Given the description of an element on the screen output the (x, y) to click on. 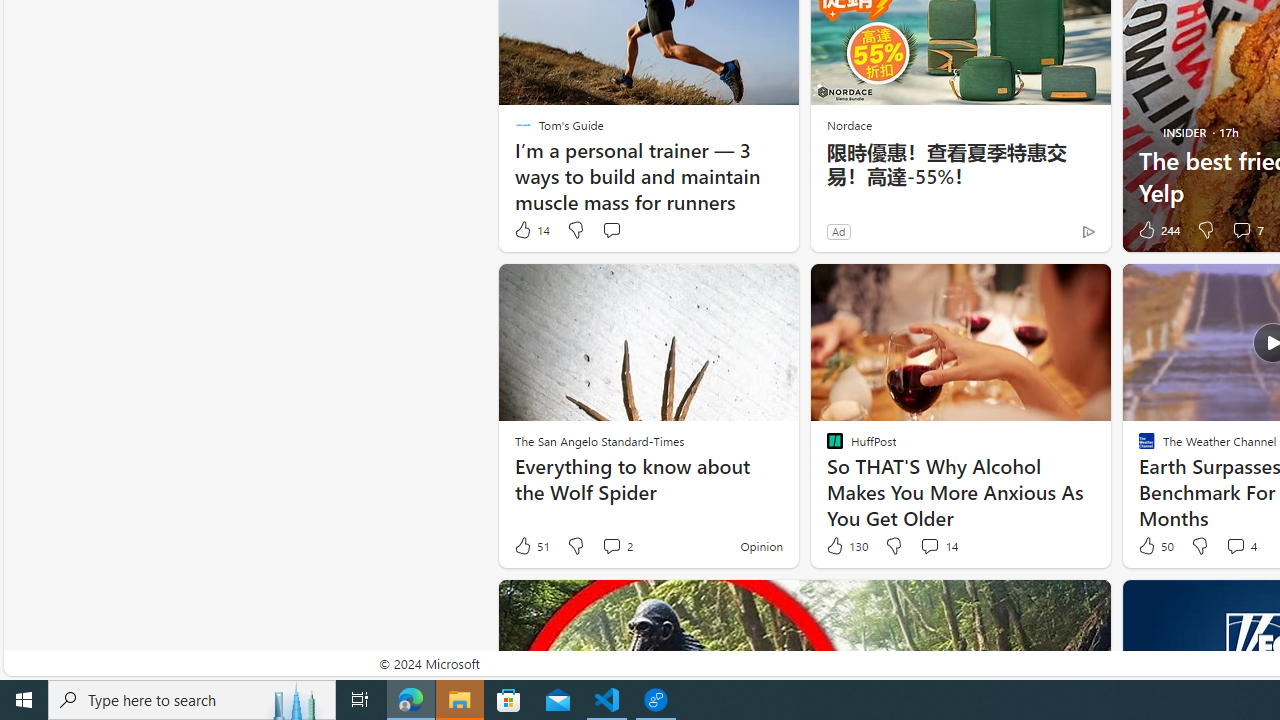
Start the conversation (610, 230)
244 Like (1157, 230)
Ad Choice (1087, 231)
Start the conversation (611, 229)
View comments 14 Comment (929, 545)
Dislike (1199, 546)
View comments 7 Comment (1241, 229)
14 Like (531, 230)
View comments 4 Comment (1234, 545)
50 Like (1154, 546)
Hide this story (1050, 603)
See more (1086, 603)
View comments 2 Comment (616, 546)
View comments 4 Comment (1240, 546)
